Given the description of an element on the screen output the (x, y) to click on. 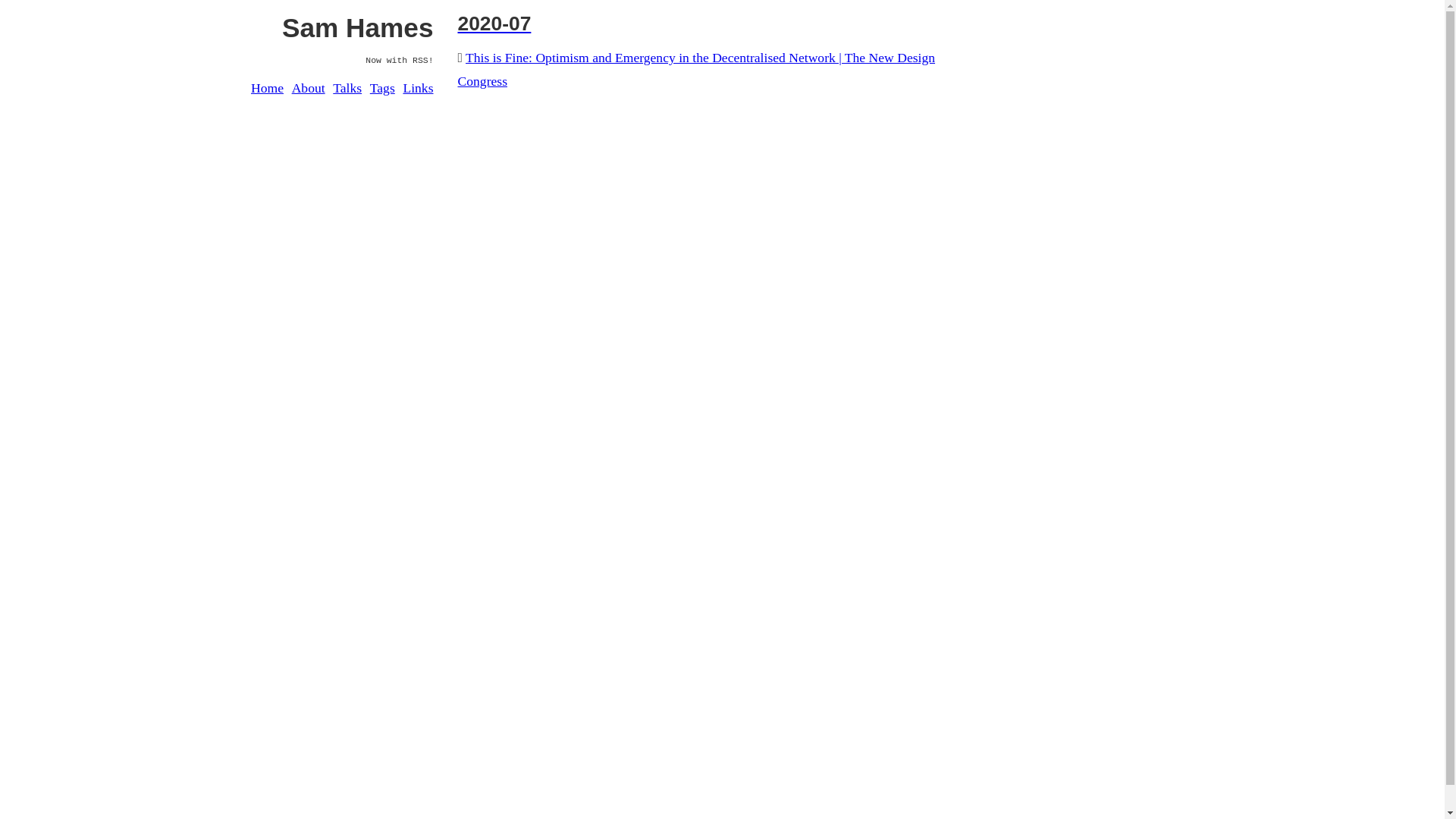
Talks Element type: text (346, 87)
About Element type: text (308, 87)
Tags Element type: text (382, 87)
Home Element type: text (267, 87)
2020-07 Element type: text (698, 24)
Links Element type: text (417, 87)
